Given the description of an element on the screen output the (x, y) to click on. 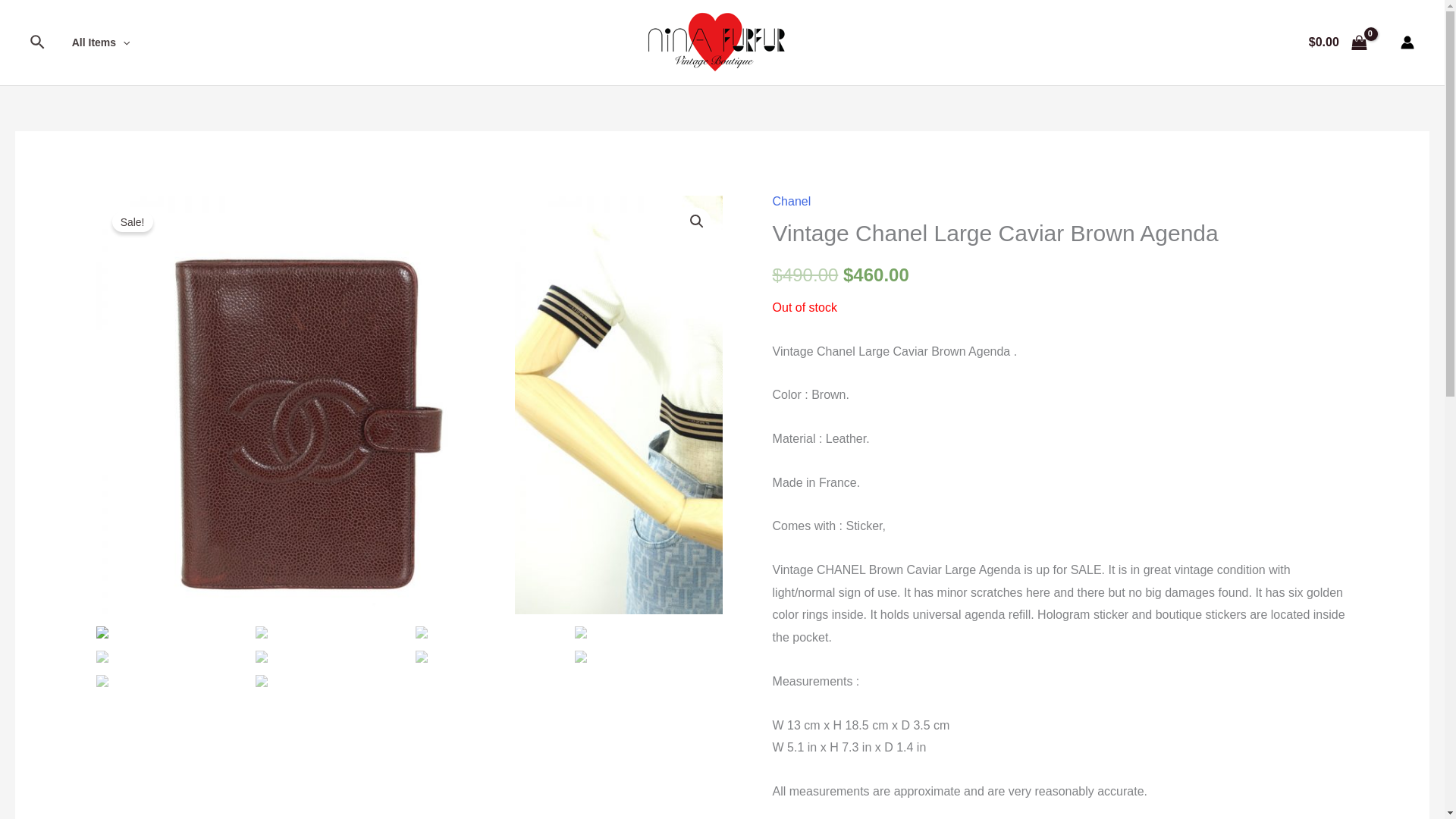
All Items (101, 42)
